Given the description of an element on the screen output the (x, y) to click on. 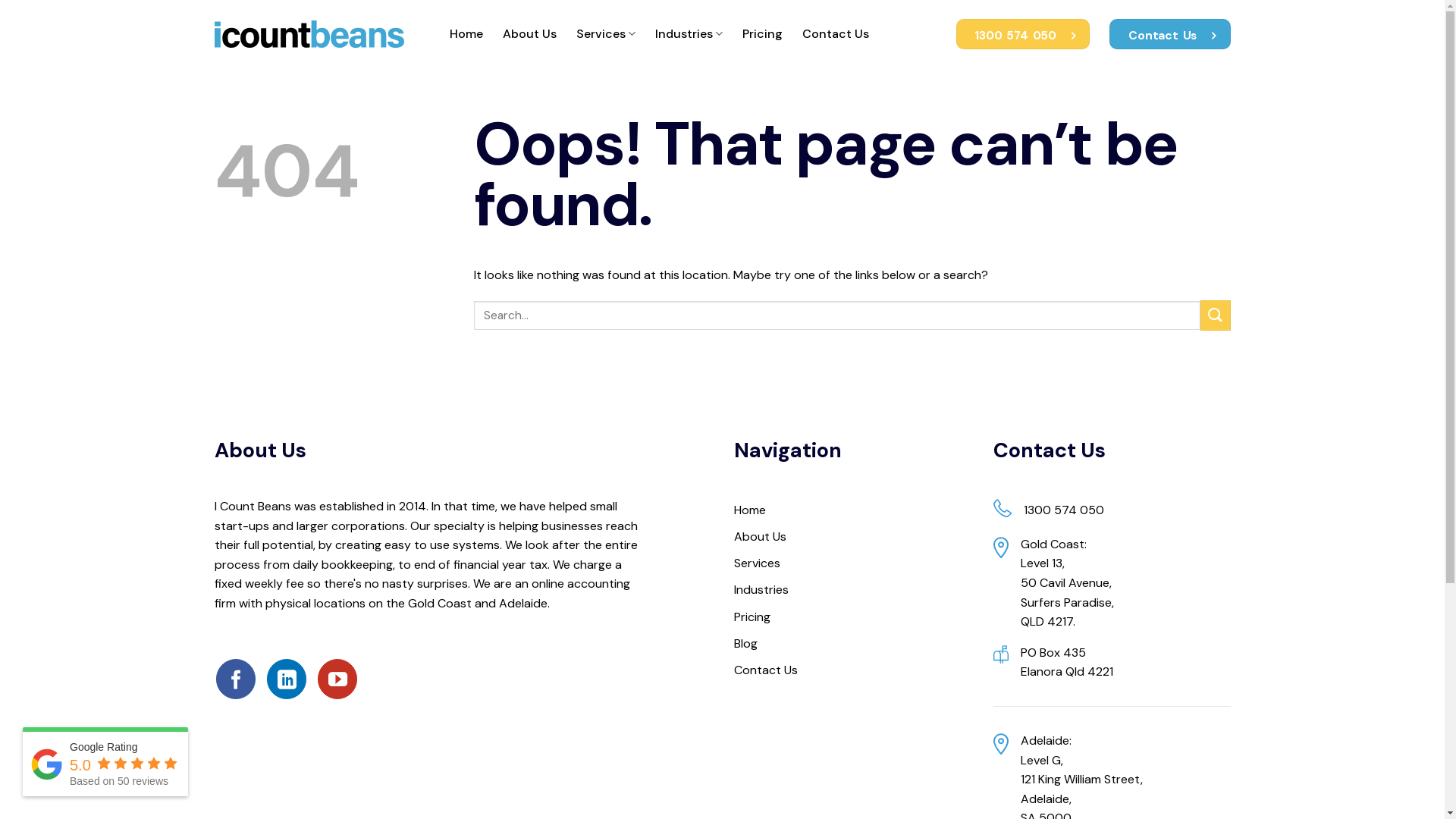
About Us Element type: text (528, 33)
Services Element type: text (852, 562)
Pricing Element type: text (852, 616)
Industries Element type: text (688, 33)
Contact Us Element type: text (1169, 34)
Follow on LinkedIn Element type: hover (286, 678)
Services Element type: text (605, 33)
1300 574 050 Element type: text (1023, 34)
Pricing Element type: text (762, 33)
Blog Element type: text (852, 643)
Follow on Facebook Element type: hover (235, 678)
About Us Element type: text (852, 536)
Contact Us Element type: text (835, 33)
Contact Us Element type: text (852, 669)
I Count Beans - Accountants & Bookkeepers Element type: hover (308, 33)
Home Element type: text (852, 509)
Industries Element type: text (852, 590)
Home Element type: text (465, 33)
1300 574 050 Element type: text (1063, 509)
Follow on YouTube Element type: hover (337, 678)
